Given the description of an element on the screen output the (x, y) to click on. 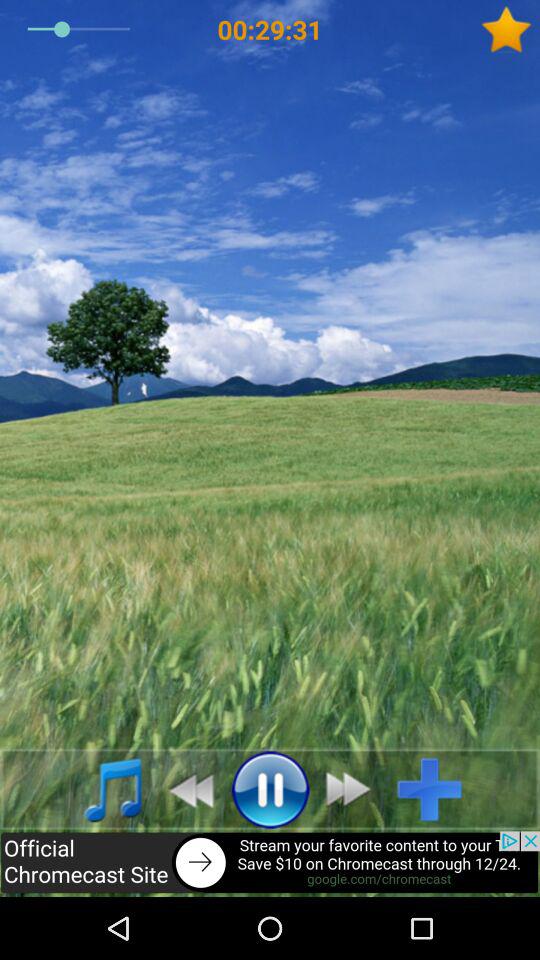
go to increase (438, 789)
